Given the description of an element on the screen output the (x, y) to click on. 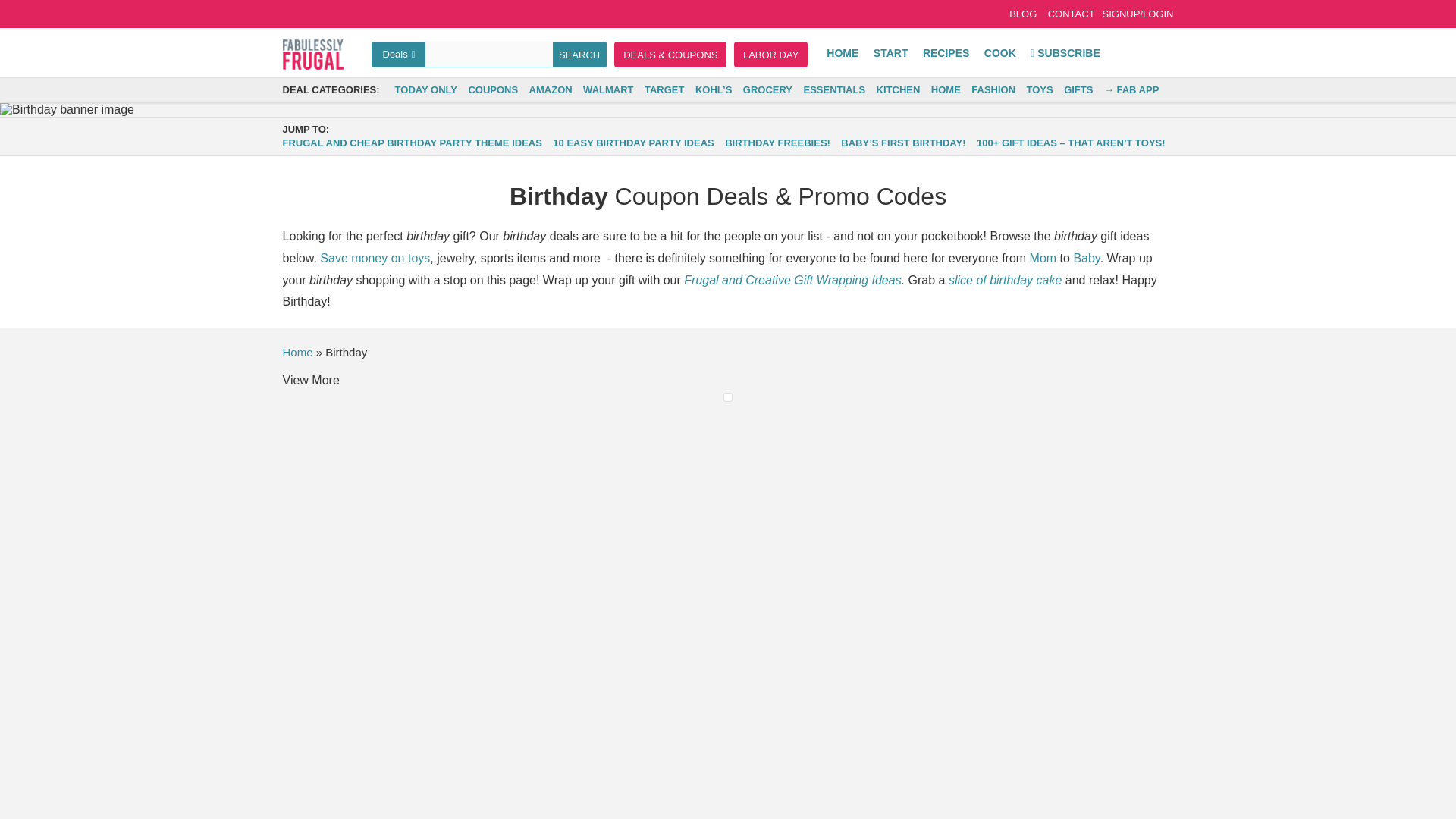
KITCHEN (898, 89)
ESSENTIALS (834, 89)
TARGET (664, 89)
COOK (1000, 52)
BIRTHDAY FREEBIES! (777, 142)
WALMART (608, 89)
CONTACT (1071, 13)
BLOG (1022, 13)
TODAY ONLY (425, 89)
RECIPES (946, 52)
